Given the description of an element on the screen output the (x, y) to click on. 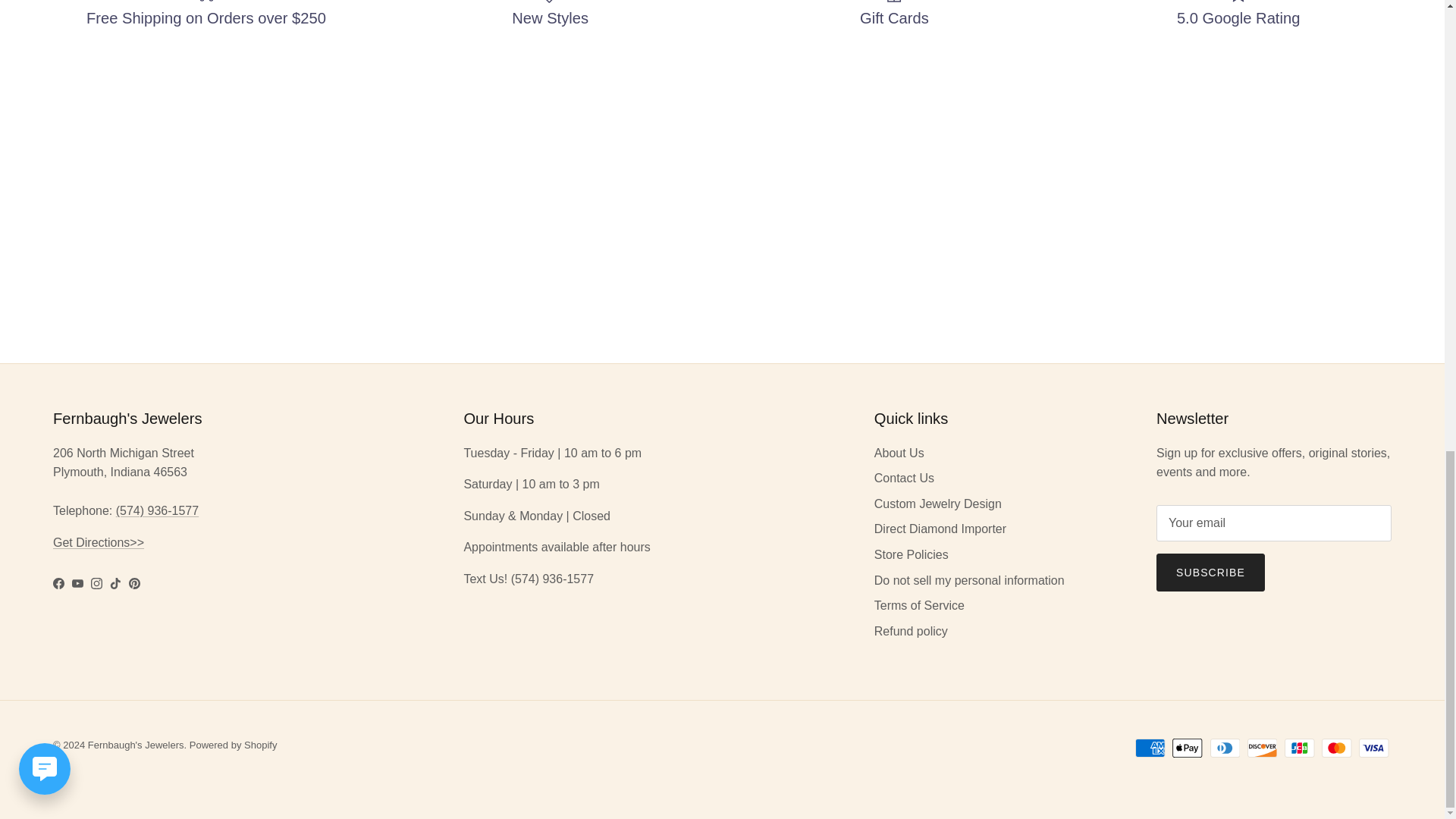
Fernbaugh's Jewelers on Instagram (95, 583)
Apple Pay (1187, 747)
American Express (1149, 747)
Fernbaugh's Jewelers on YouTube (76, 583)
Fernbaugh's Jewelers on TikTok (115, 583)
Fernbaugh's Jewelers on Facebook (58, 583)
tel:15749361577 (157, 510)
Fernbaugh's Jewelers on Pinterest (134, 583)
